Given the description of an element on the screen output the (x, y) to click on. 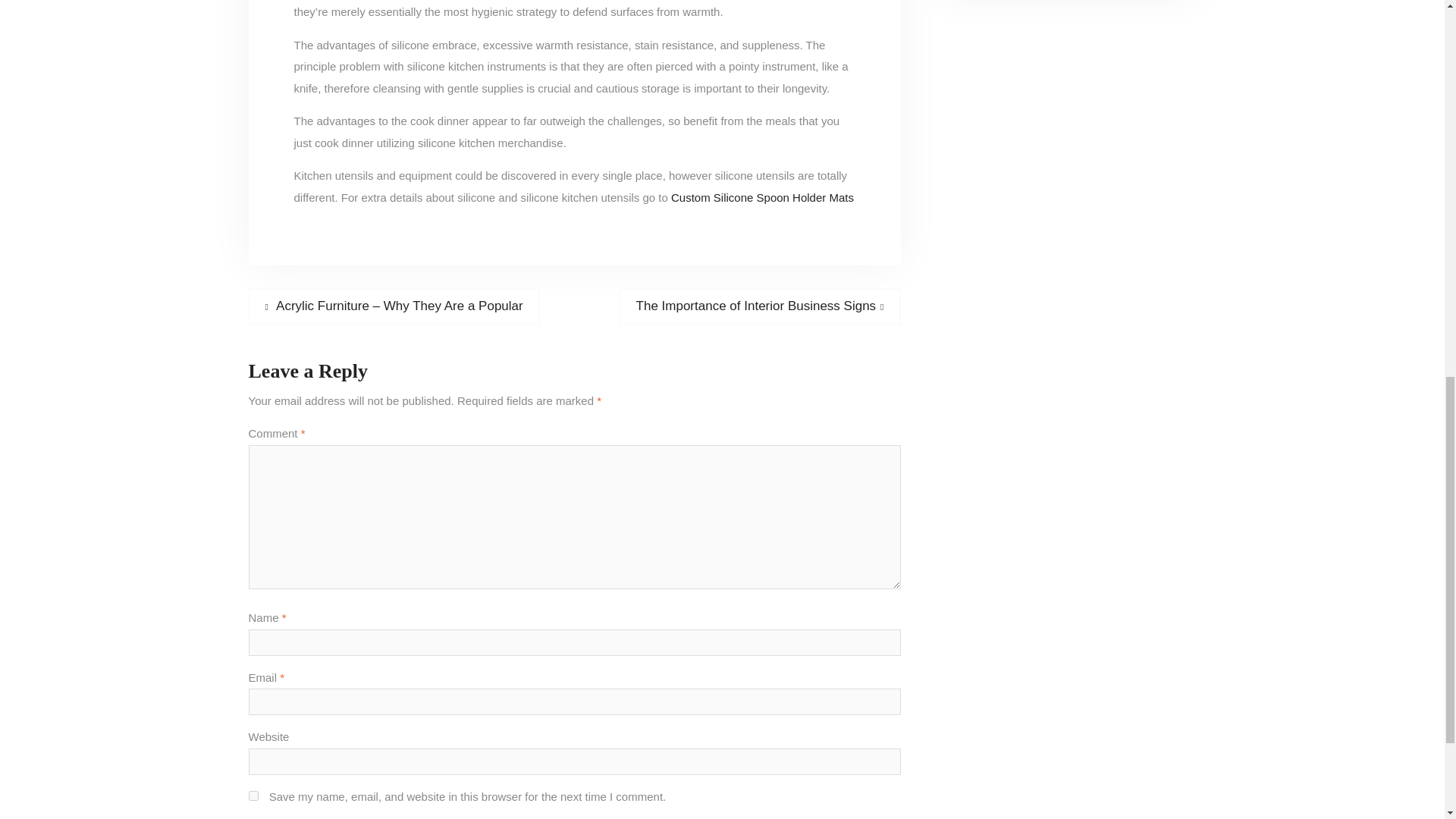
yes (760, 306)
Custom Silicone Spoon Holder Mats (253, 795)
